Given the description of an element on the screen output the (x, y) to click on. 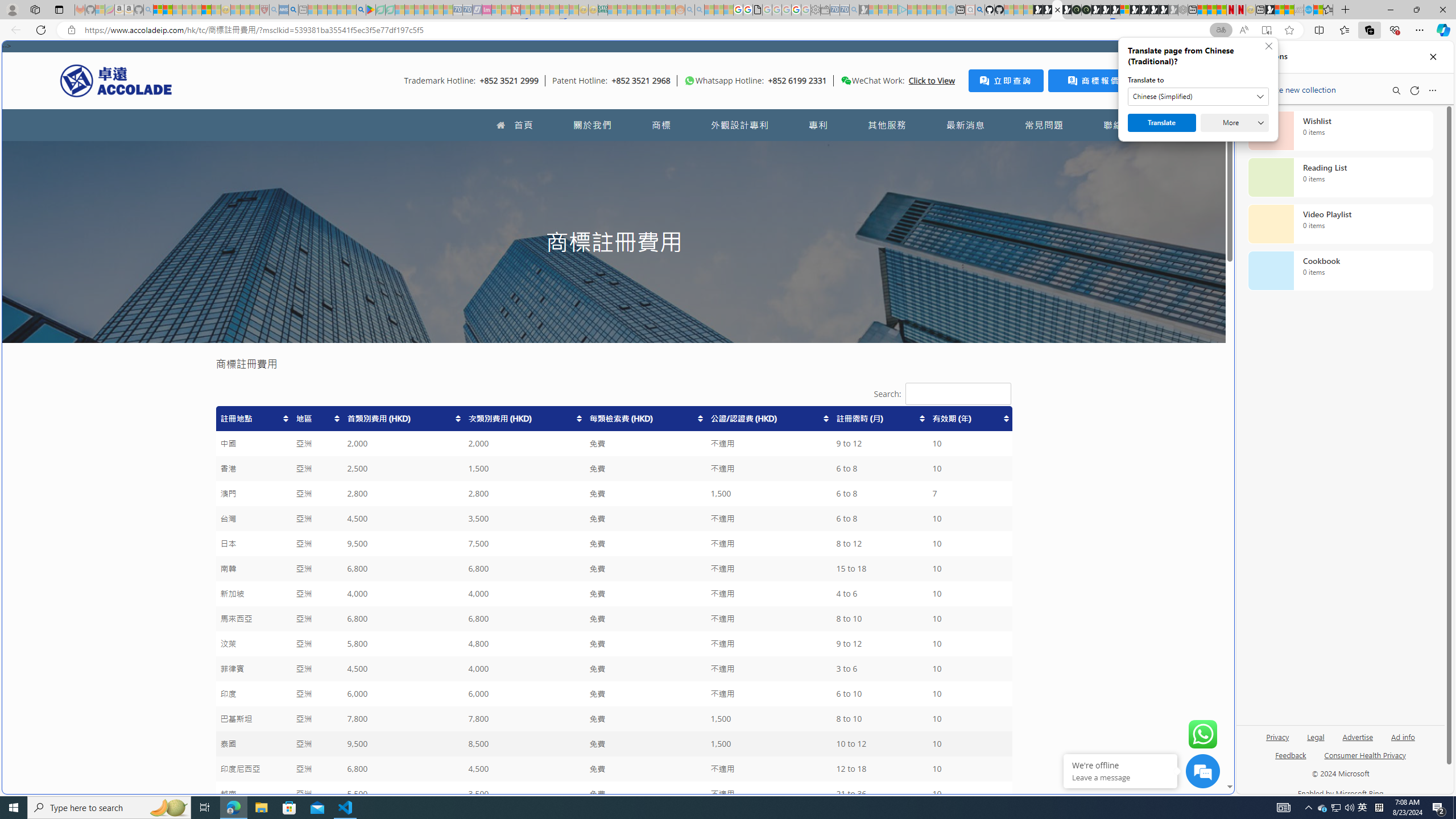
6 to 10 (879, 693)
Class: row-3 odd (613, 468)
14 Common Myths Debunked By Scientific Facts - Sleeping (534, 9)
Class: row-11 odd (613, 669)
Microsoft account | Privacy - Sleeping (892, 9)
EN (1193, 124)
Privacy (1277, 741)
Navy Quest (1299, 9)
google_privacy_policy_zh-CN.pdf (1118, 683)
